Given the description of an element on the screen output the (x, y) to click on. 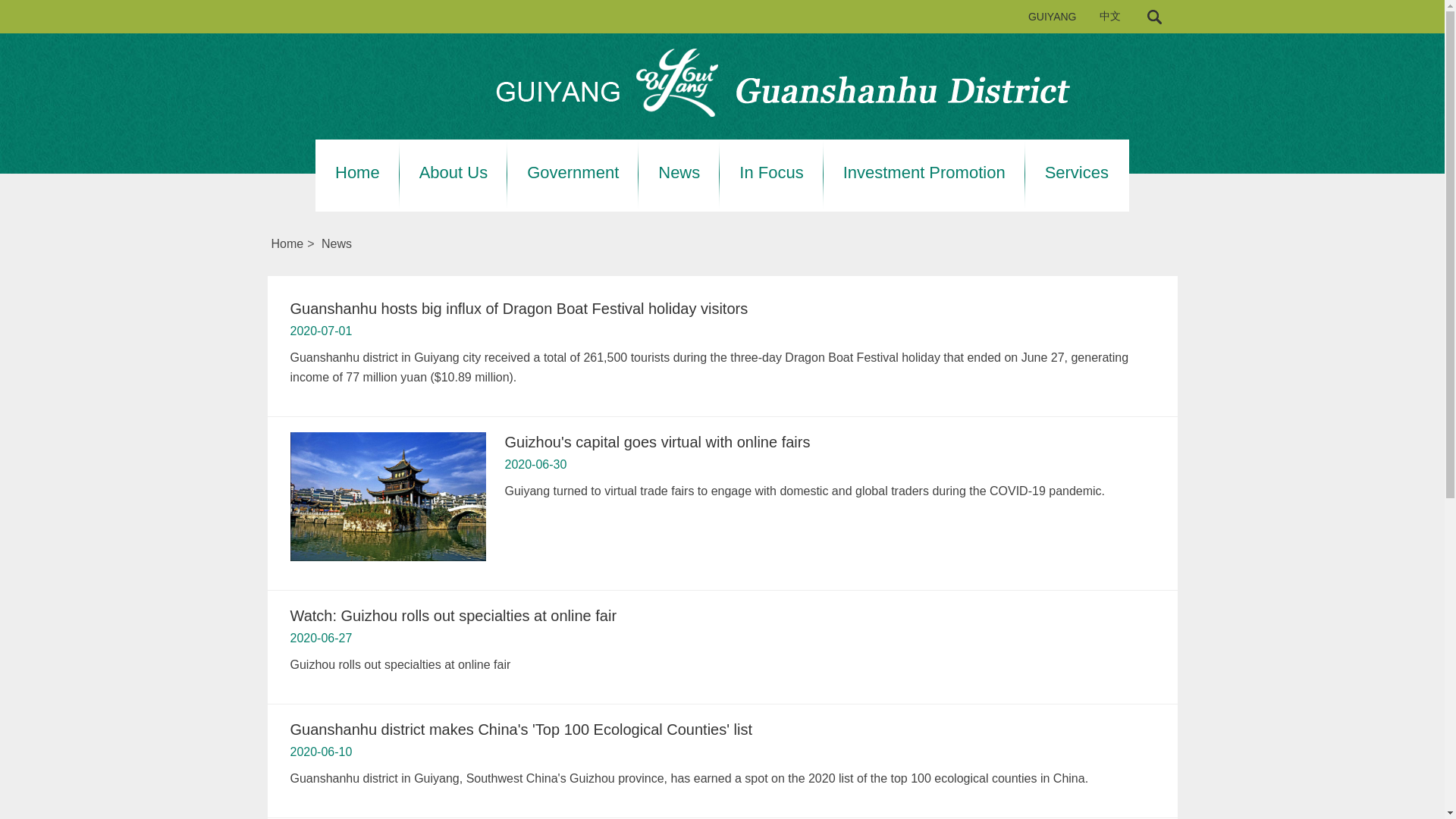
Investment Promotion (924, 172)
GUIYANG (1052, 16)
Services (1076, 172)
Government (572, 172)
In Focus (771, 172)
News (336, 243)
News (679, 172)
Home (287, 243)
Home (357, 172)
